Given the description of an element on the screen output the (x, y) to click on. 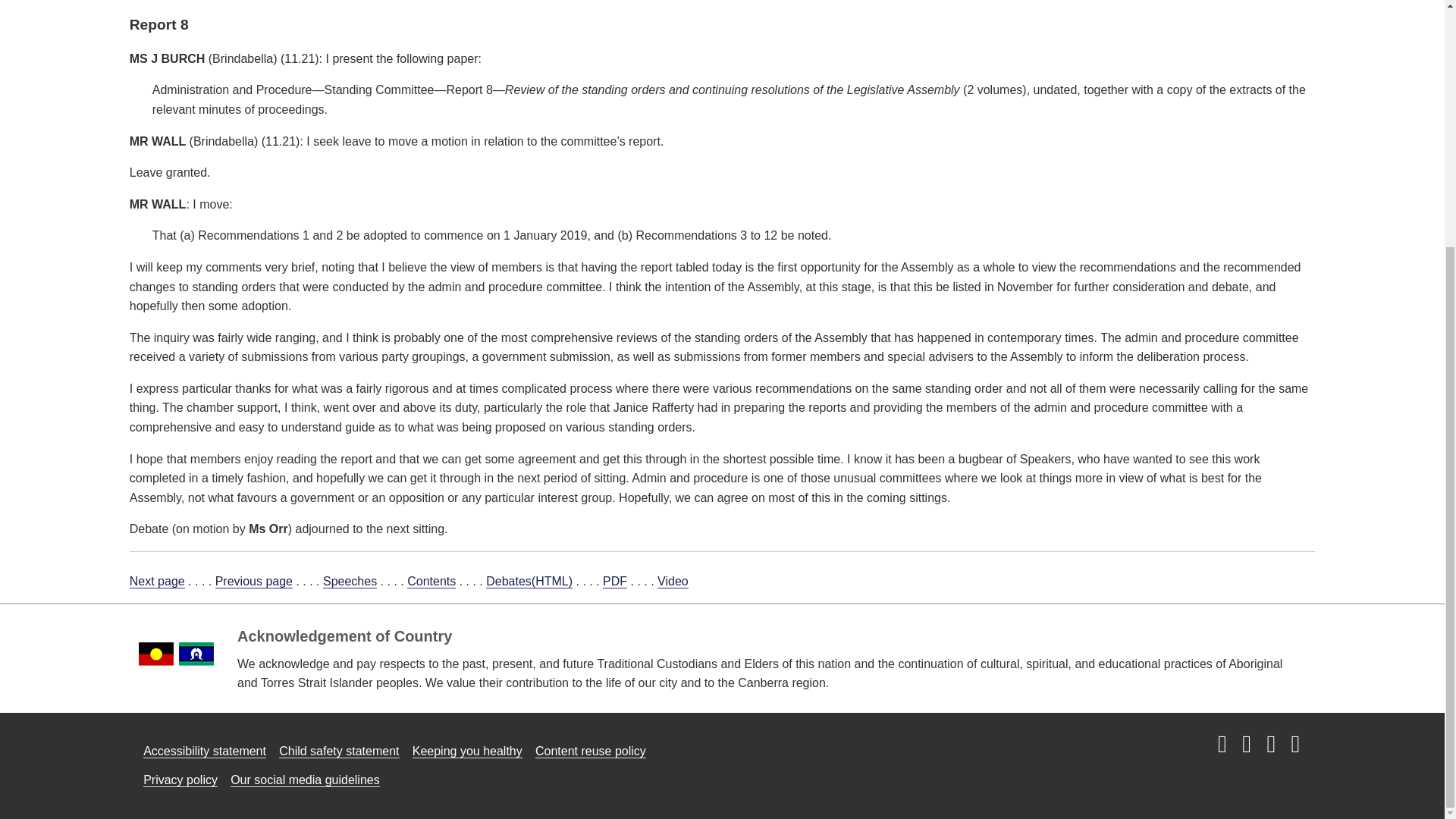
PDF (614, 581)
Next page (156, 581)
Read our child safety committment (338, 751)
Read our social media guidelines (305, 780)
Read our access and inclusion statement (204, 751)
Child safety statement (338, 751)
Our social media guidelines (305, 780)
Contents (431, 581)
Keeping you healthy (467, 751)
Accessibility statement (204, 751)
